Given the description of an element on the screen output the (x, y) to click on. 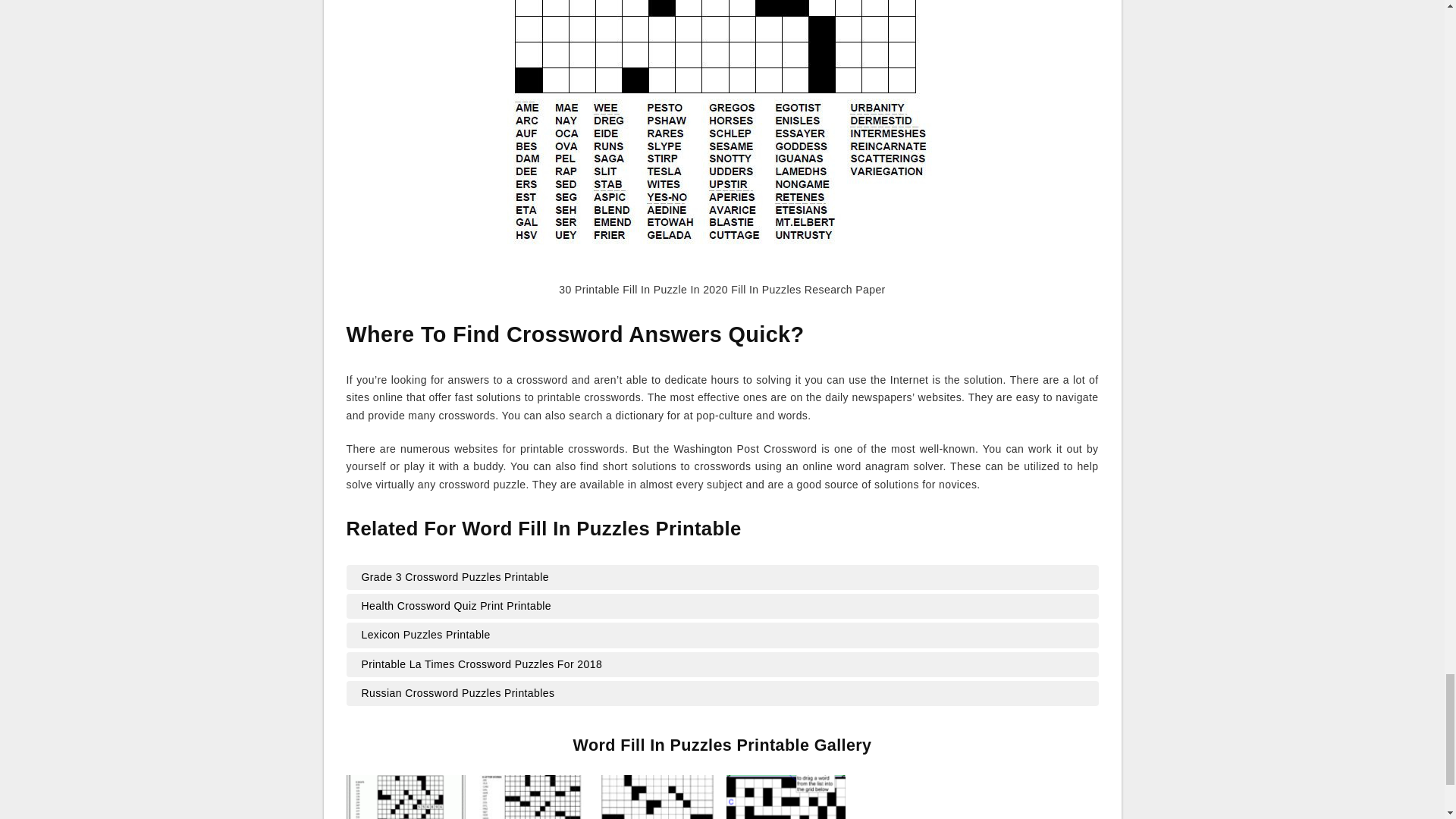
Pin On Printable Account Statement Templates (532, 796)
Printable La Times Crossword Puzzles For 2018 (721, 664)
Health Crossword Quiz Print Printable (721, 606)
Russian Crossword Puzzles Printables (721, 693)
Grade 3 Crossword Puzzles Printable (721, 577)
Lexicon Puzzles Printable (721, 634)
